Given the description of an element on the screen output the (x, y) to click on. 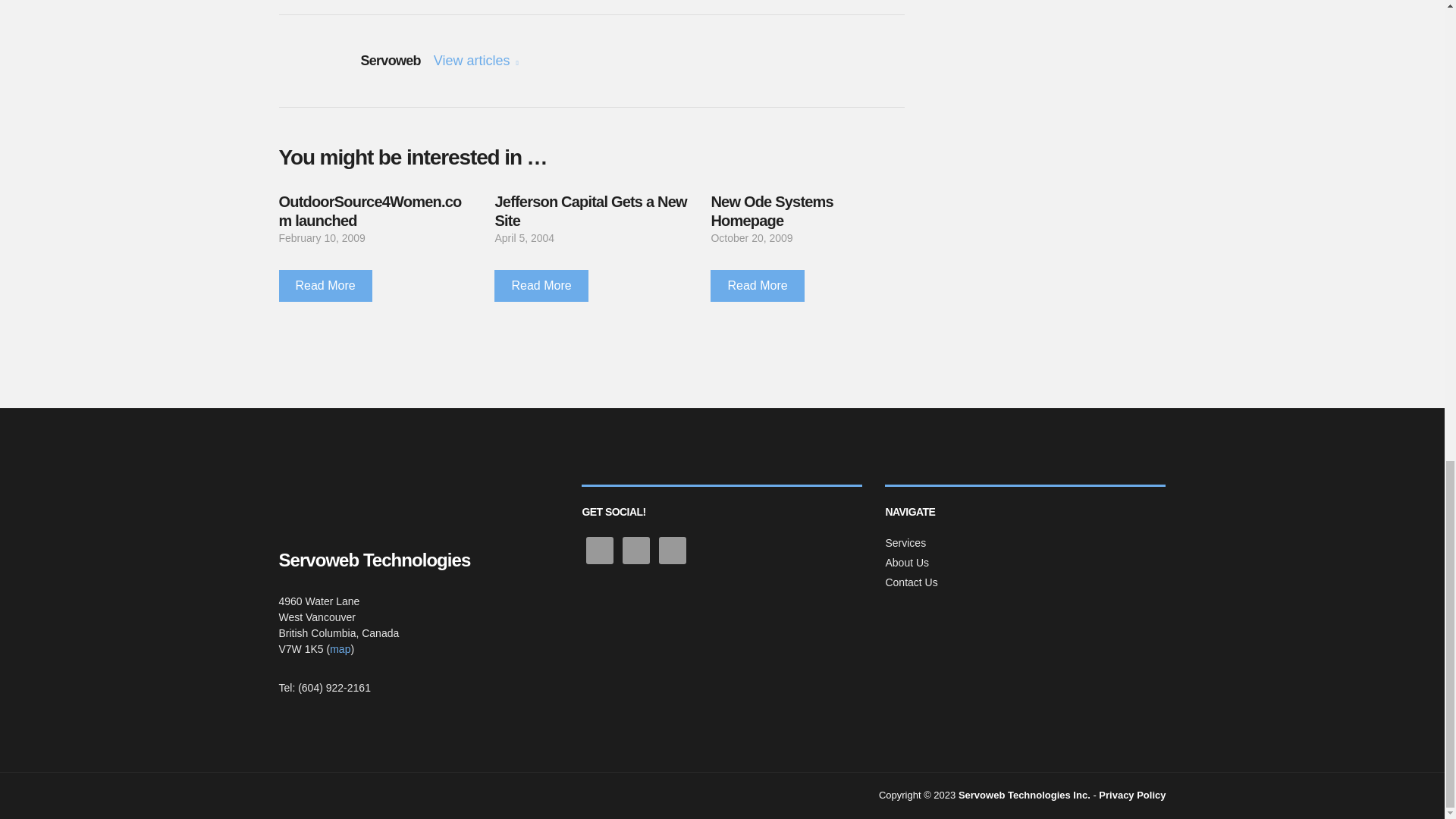
Jefferson Capital Gets a New Site (590, 211)
Read More (541, 286)
map (340, 648)
Read More (756, 286)
Read More (325, 286)
New Ode Systems Homepage (771, 211)
View articles (475, 60)
OutdoorSource4Women.com launched (370, 211)
